Given the description of an element on the screen output the (x, y) to click on. 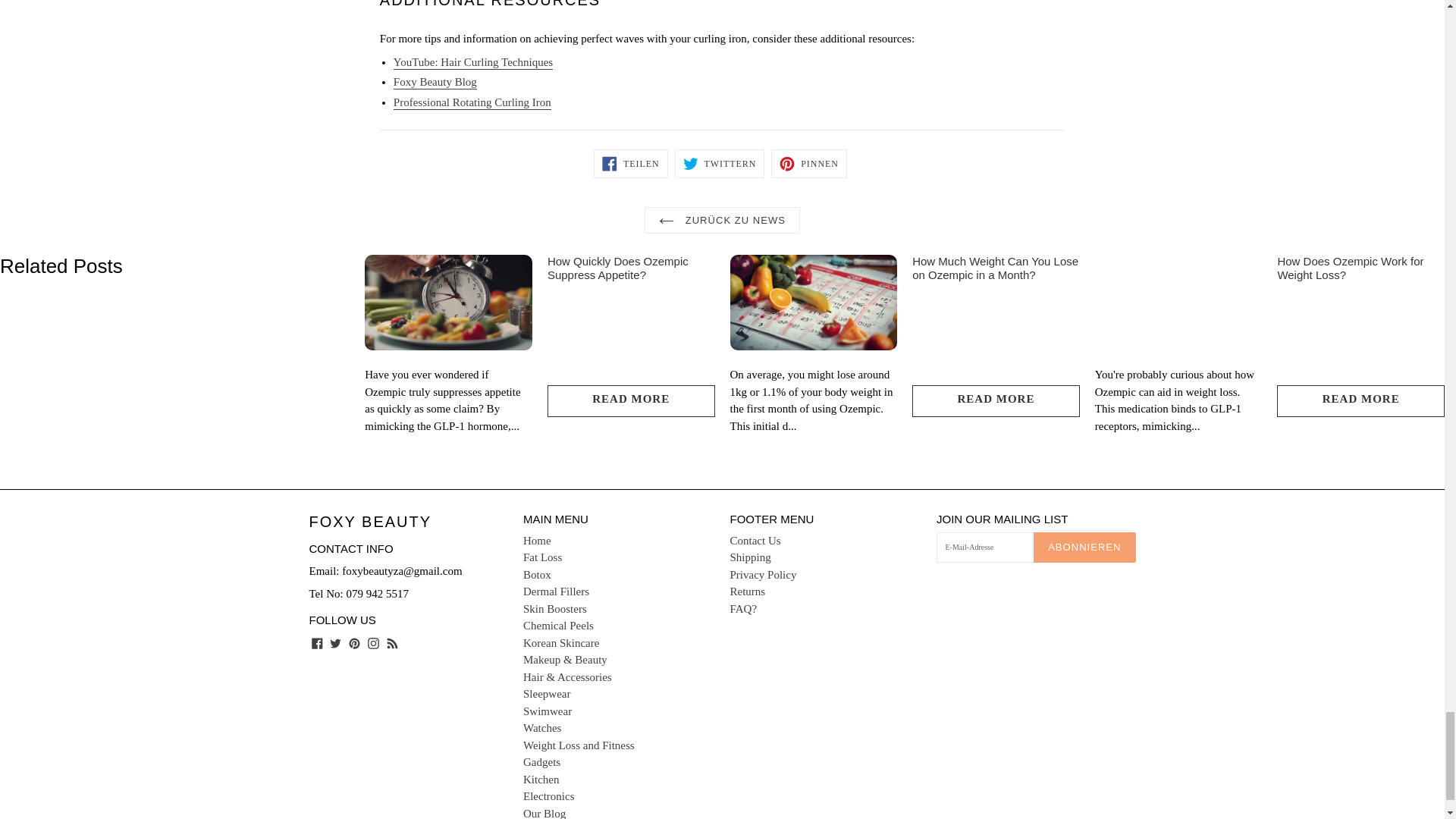
Foxy Beauty auf Facebook (316, 642)
Foxy Beauty auf Pinterest (354, 642)
Auf Facebook teilen (631, 163)
Auf Pinterest pinnen (809, 163)
Foxy Beauty auf Twitter (335, 642)
Foxy Beauty auf Instagram (373, 642)
Auf Twitter twittern (720, 163)
